Given the description of an element on the screen output the (x, y) to click on. 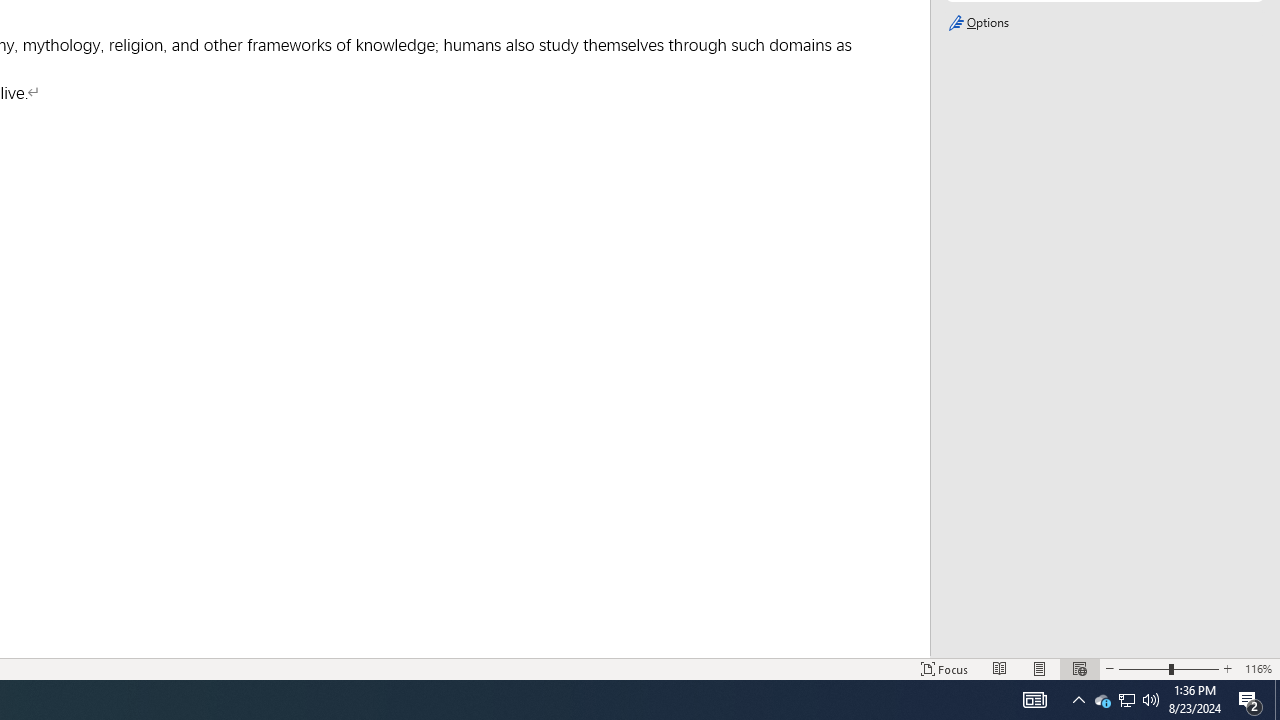
Options (1104, 23)
